Given the description of an element on the screen output the (x, y) to click on. 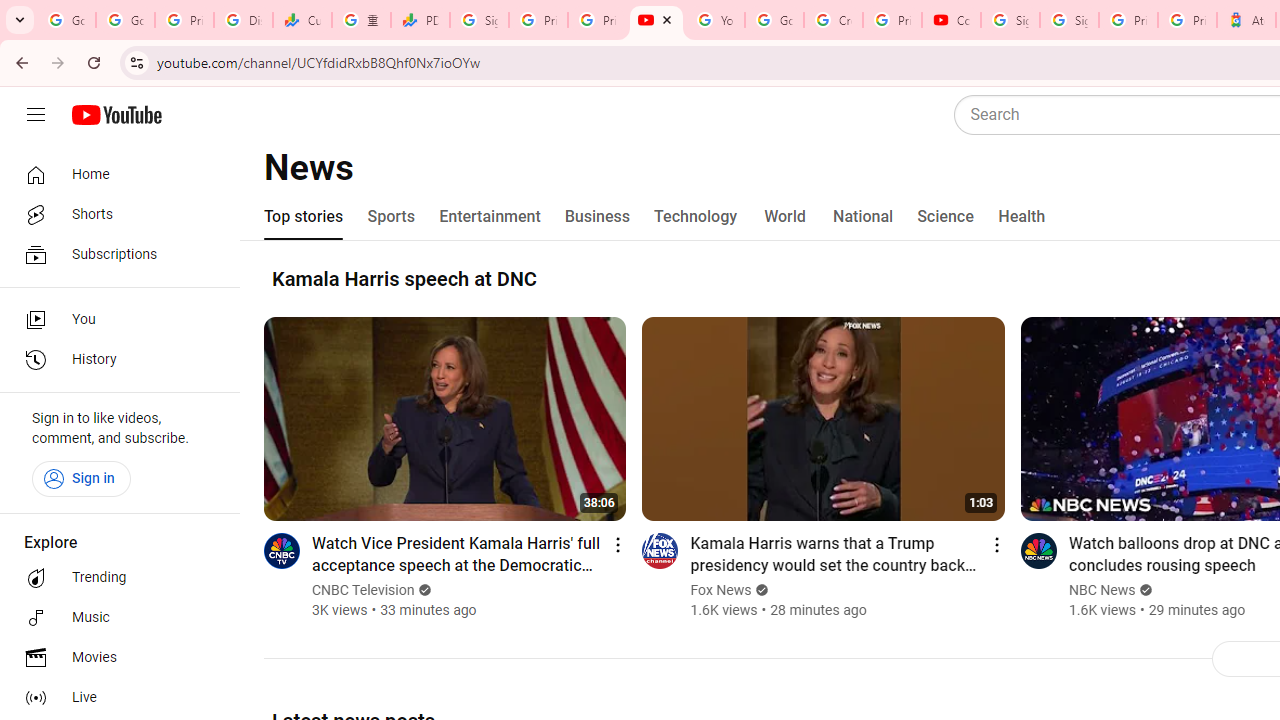
Science (945, 216)
Trending (113, 578)
Google Workspace Admin Community (66, 20)
YouTube (715, 20)
Privacy Checkup (597, 20)
Sports (391, 216)
PDD Holdings Inc - ADR (PDD) Price & News - Google Finance (420, 20)
Sign in - Google Accounts (1010, 20)
YouTube Home (116, 115)
